Given the description of an element on the screen output the (x, y) to click on. 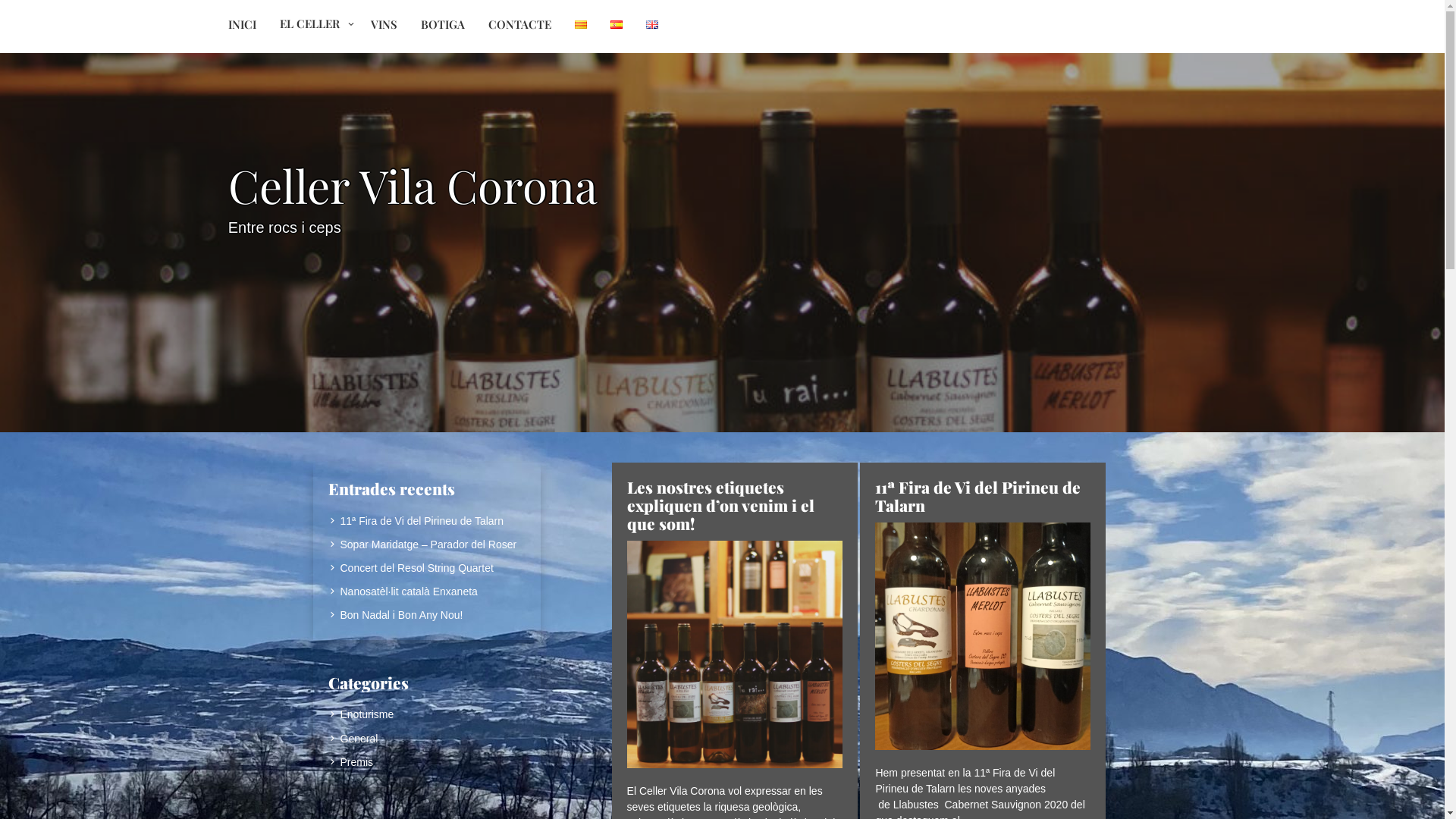
VINS Element type: text (384, 25)
CONTACTE Element type: text (519, 25)
Premis Element type: text (350, 762)
Bon Nadal i Bon Any Nou! Element type: text (394, 614)
General Element type: text (352, 738)
EL CELLER Element type: text (313, 25)
BOTIGA Element type: text (442, 25)
Enoturisme Element type: text (360, 714)
Concert del Resol String Quartet Element type: text (409, 567)
INICI Element type: text (242, 25)
Celler Vila Corona Element type: text (412, 184)
